Given the description of an element on the screen output the (x, y) to click on. 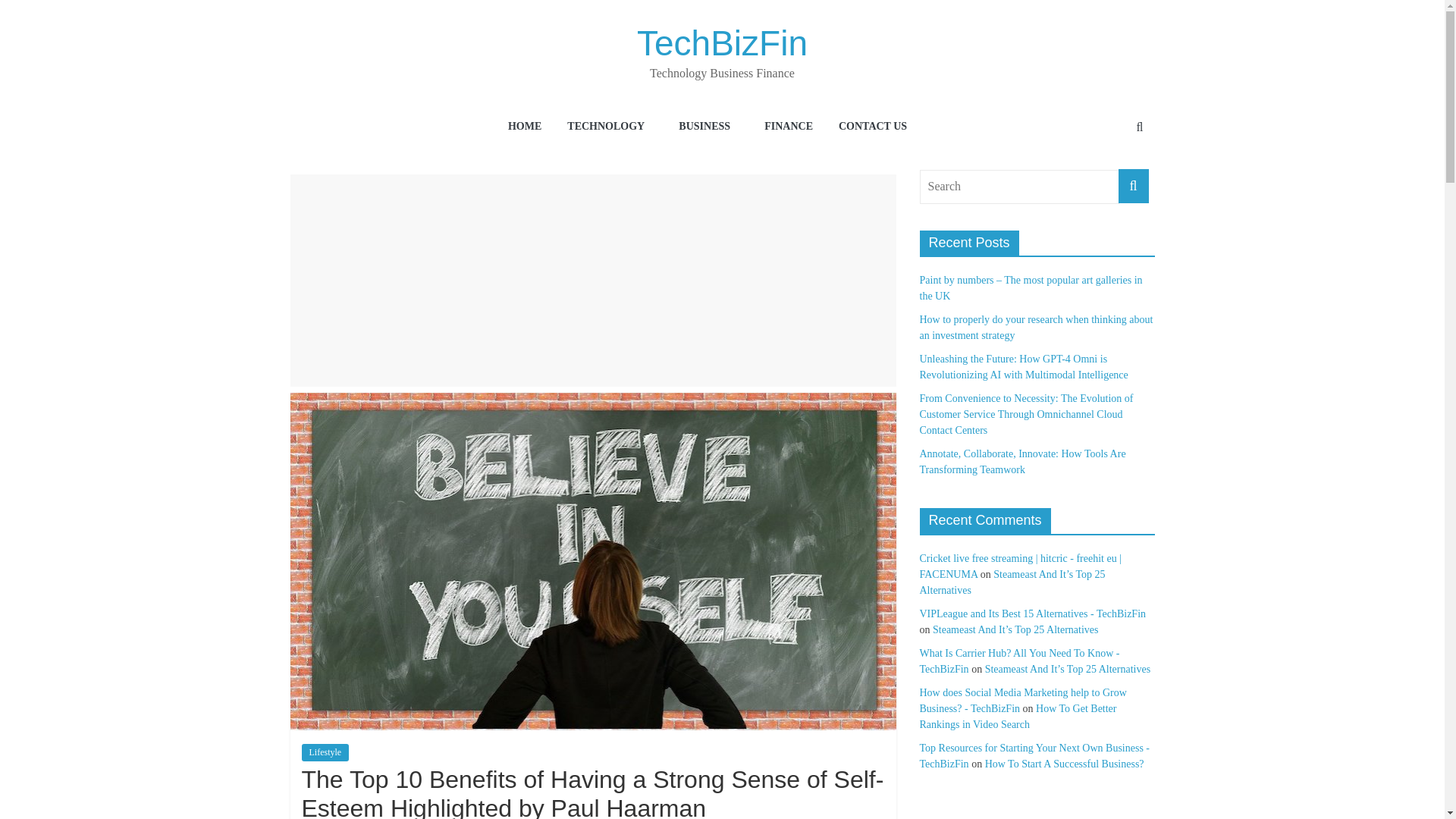
FINANCE (788, 126)
HOME (524, 126)
CONTACT US (872, 126)
TECHNOLOGY (609, 126)
BUSINESS (708, 126)
Lifestyle (325, 751)
TechBizFin (722, 43)
Advertisement (592, 280)
